Given the description of an element on the screen output the (x, y) to click on. 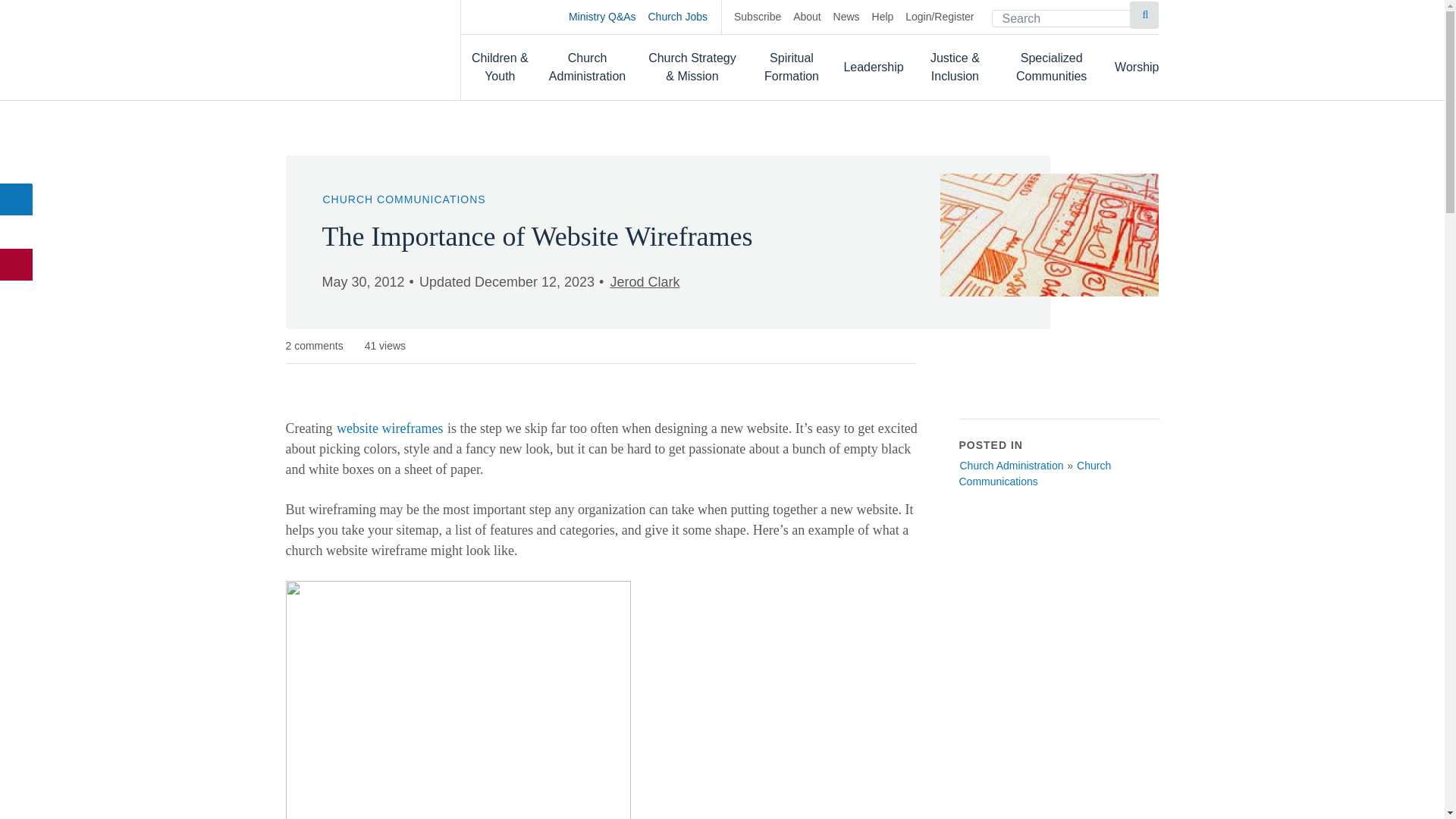
Share to Facebook (16, 199)
Share to X (16, 231)
Church Jobs (684, 17)
Church Administration (587, 67)
Home (357, 49)
Jerod Clark (643, 281)
Submit (1143, 14)
Share to Email (16, 264)
View user profile. (643, 281)
Spiritual Formation (791, 67)
Submit (1143, 14)
Subscribe (756, 17)
CHURCH COMMUNICATIONS (403, 199)
website wireframes (390, 428)
